Given the description of an element on the screen output the (x, y) to click on. 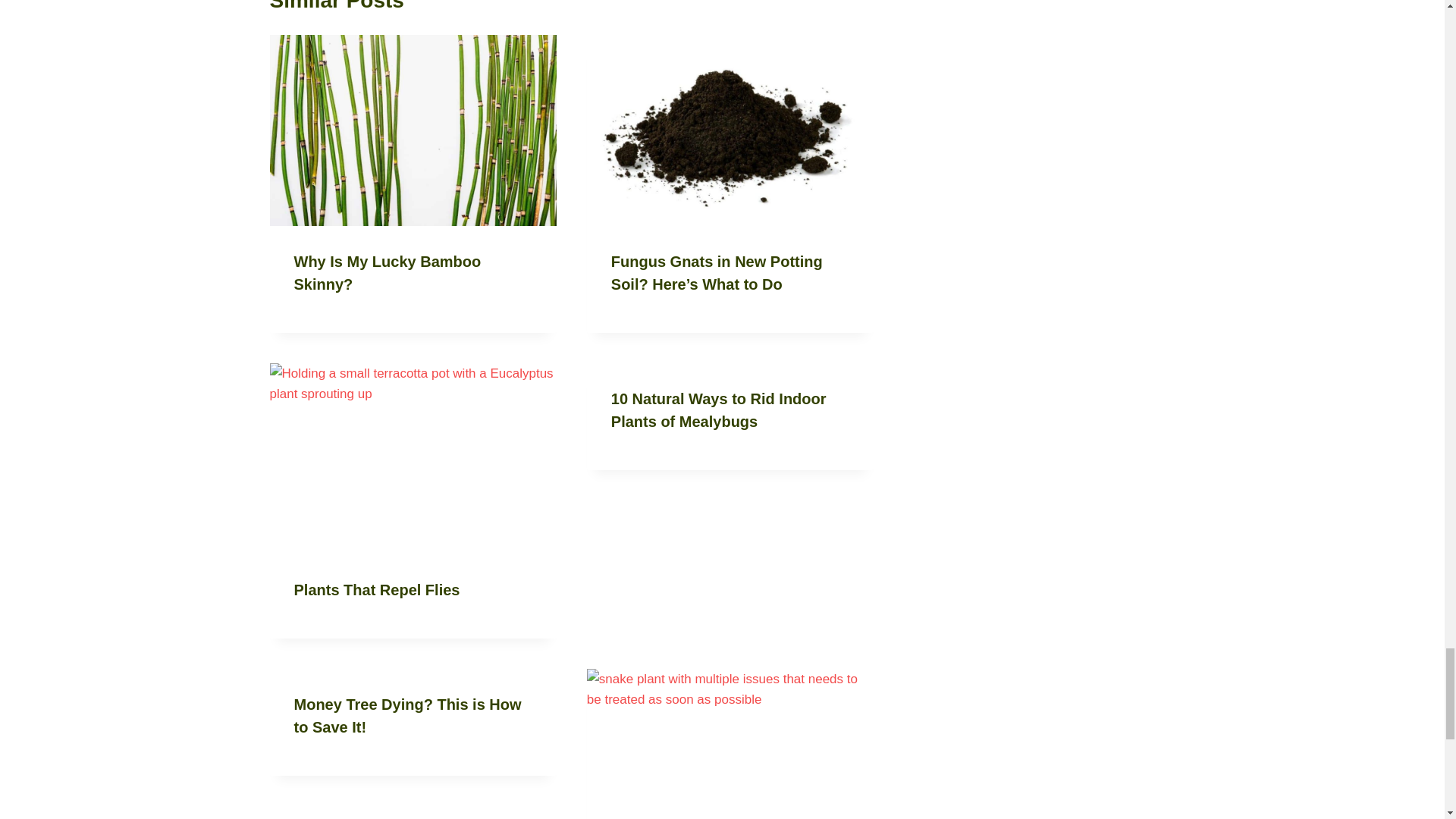
Why Is My Lucky Bamboo Skinny? (387, 272)
10 Natural Ways to Rid Indoor Plants of Mealybugs (719, 409)
Money Tree Dying? This is How to Save It! (407, 715)
Plants That Repel Flies (377, 589)
